Given the description of an element on the screen output the (x, y) to click on. 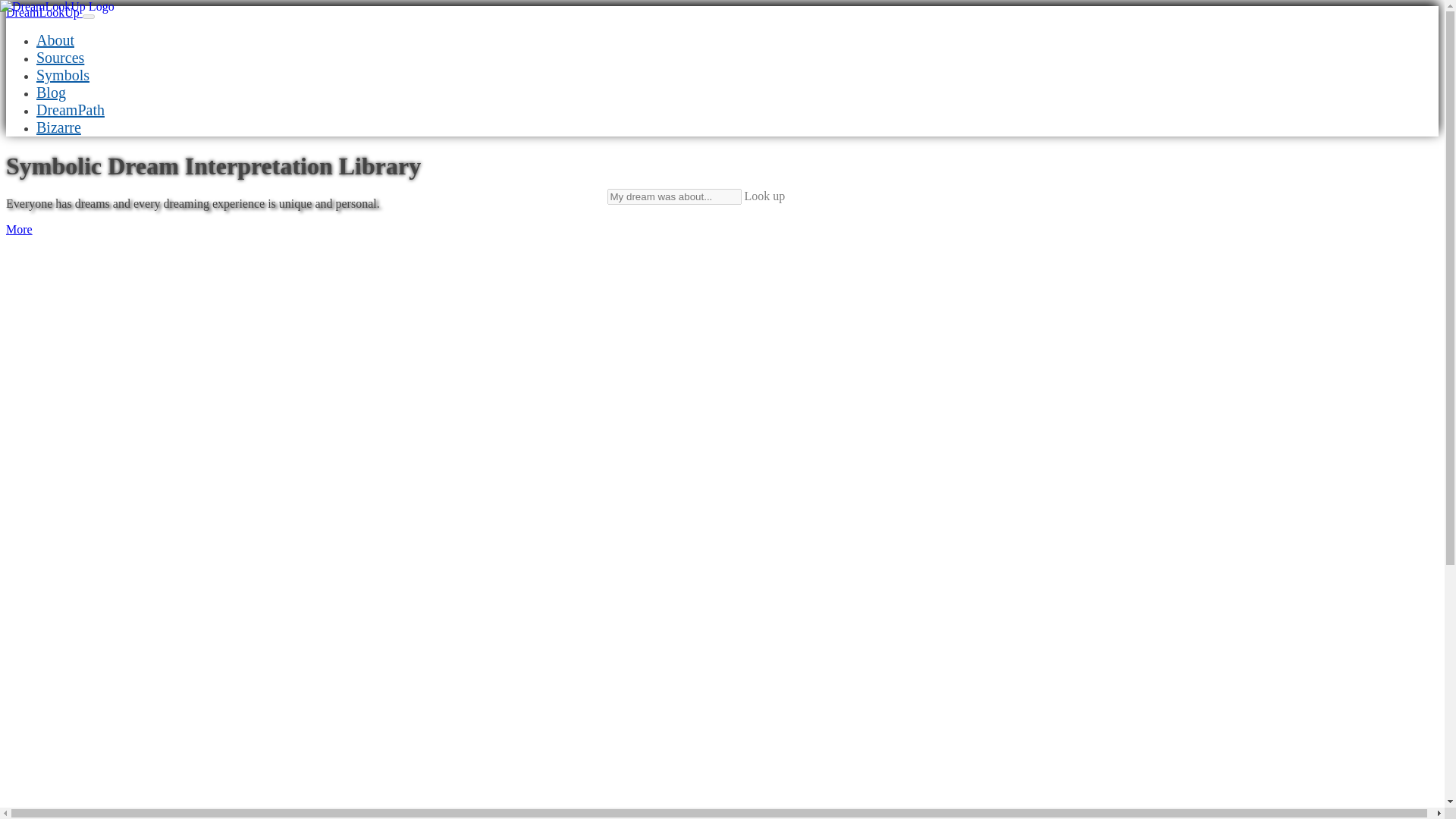
Symbols (62, 74)
Blog (50, 92)
More (18, 228)
Sources (60, 57)
About (55, 39)
DreamLookUp (43, 11)
More (18, 228)
Bizarre (58, 126)
DreamPath (70, 109)
